Given the description of an element on the screen output the (x, y) to click on. 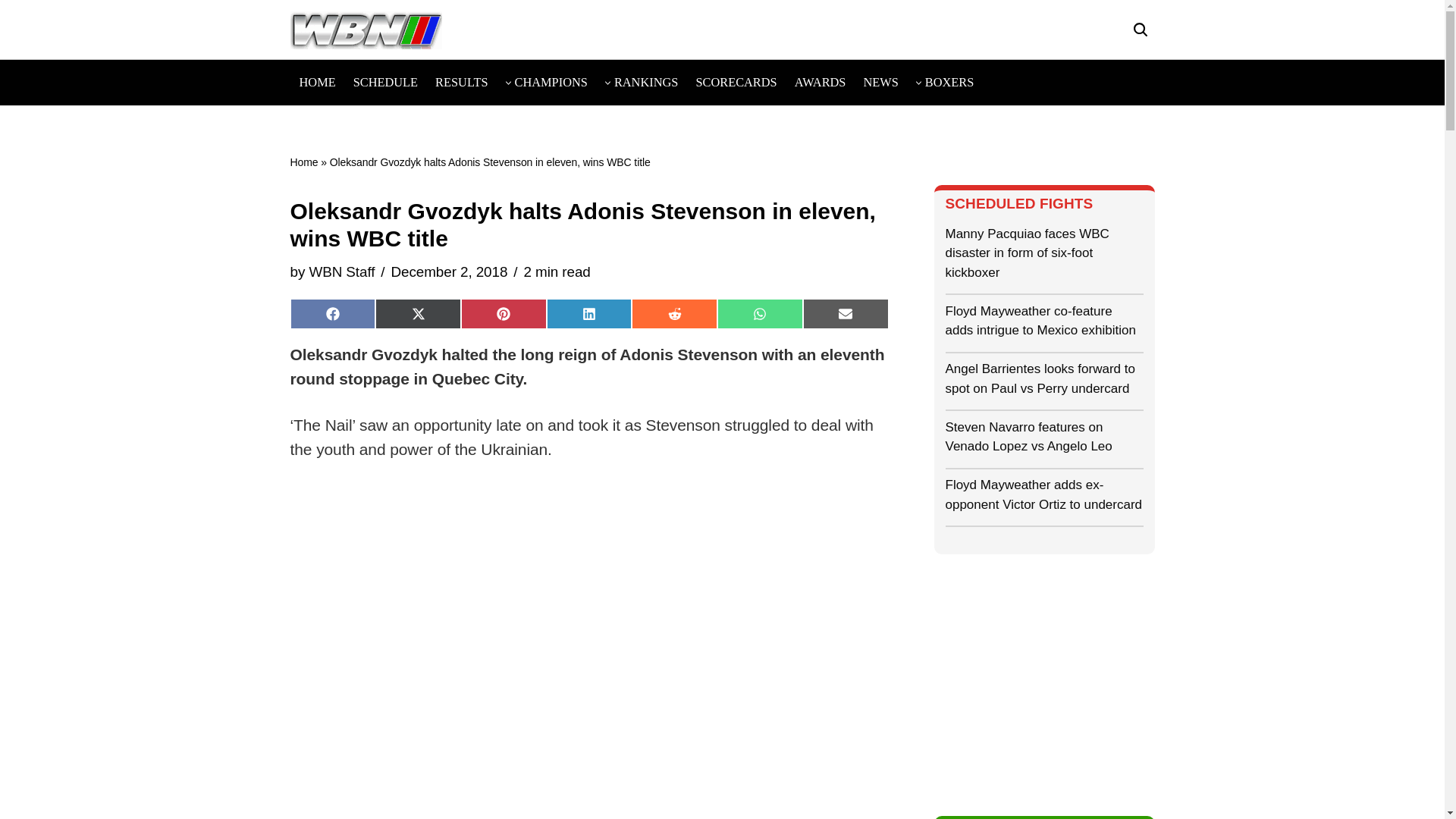
SCORECARDS (735, 81)
RANKINGS (646, 81)
HOME (316, 81)
Posts by WBN Staff (341, 271)
Skip to content (11, 31)
NEWS (880, 81)
CHAMPIONS (551, 81)
SCHEDULE (385, 81)
AWARDS (819, 81)
RESULTS (461, 81)
BOXERS (949, 81)
